Given the description of an element on the screen output the (x, y) to click on. 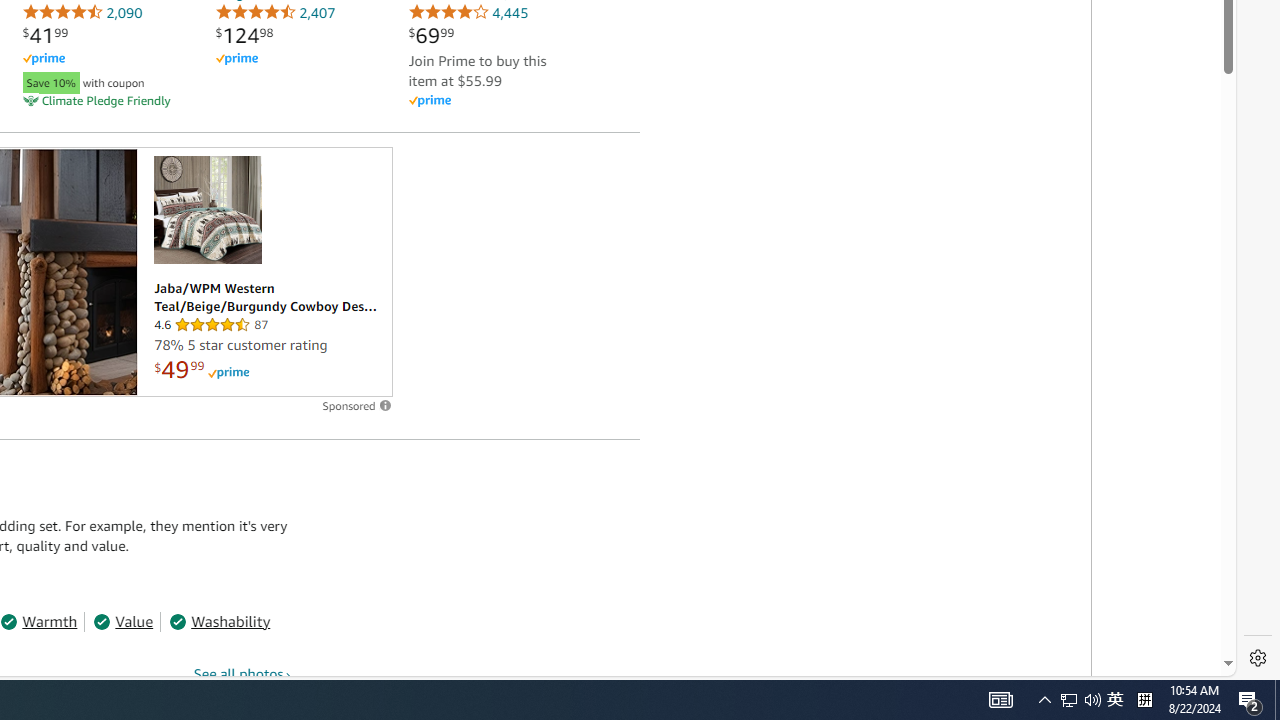
Prime (228, 371)
4,445 (468, 12)
$41.99 (45, 35)
Value (123, 621)
Warmth (39, 621)
Washability (219, 621)
Amazon Prime (429, 101)
Amazon Prime (488, 100)
Save 10% with coupon (102, 79)
2,090 (82, 12)
See all photos (243, 673)
2,407 (275, 12)
